Given the description of an element on the screen output the (x, y) to click on. 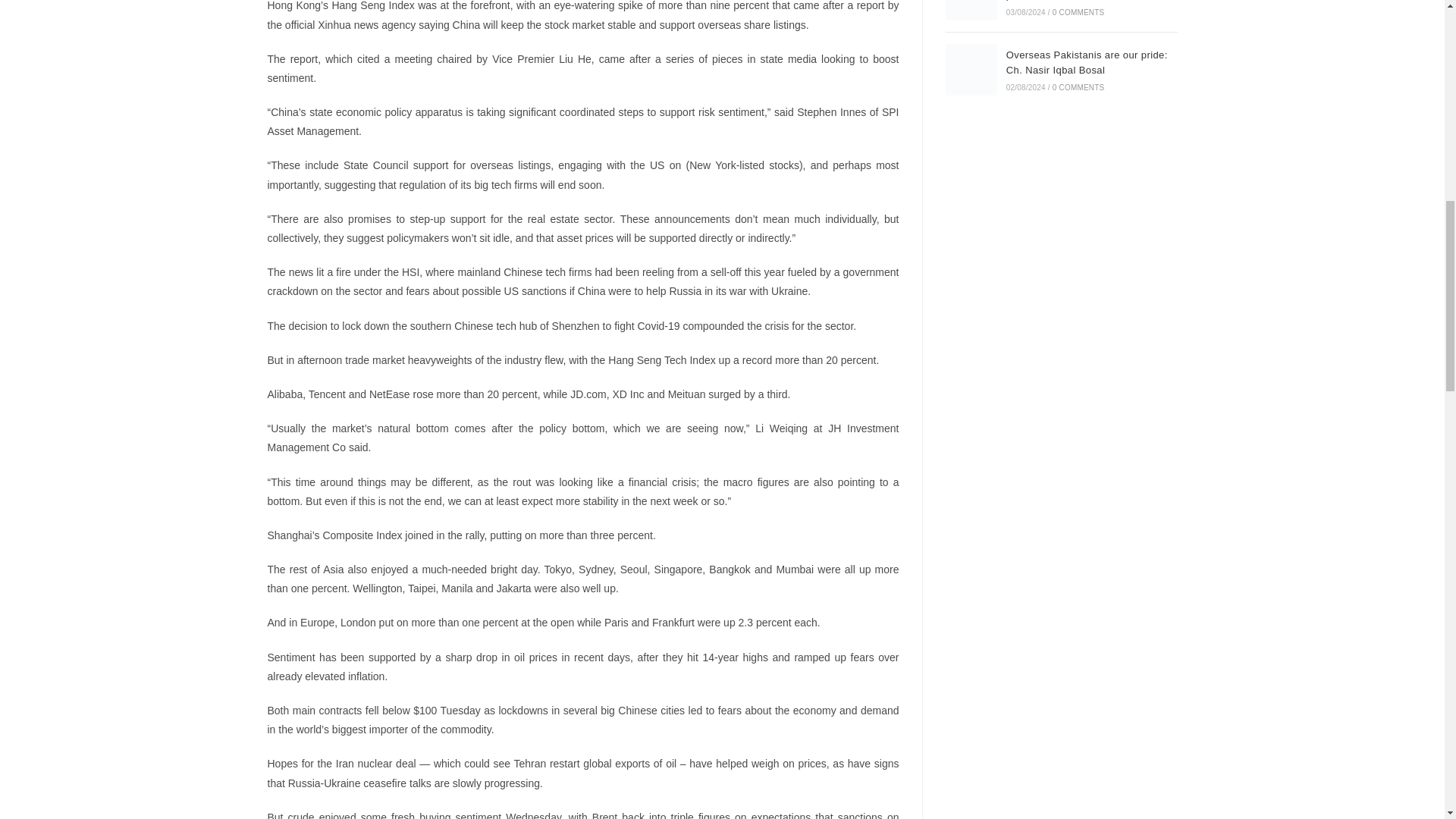
Overseas Pakistanis are our pride: Ch. Nasir Iqbal Bosal (969, 69)
